Given the description of an element on the screen output the (x, y) to click on. 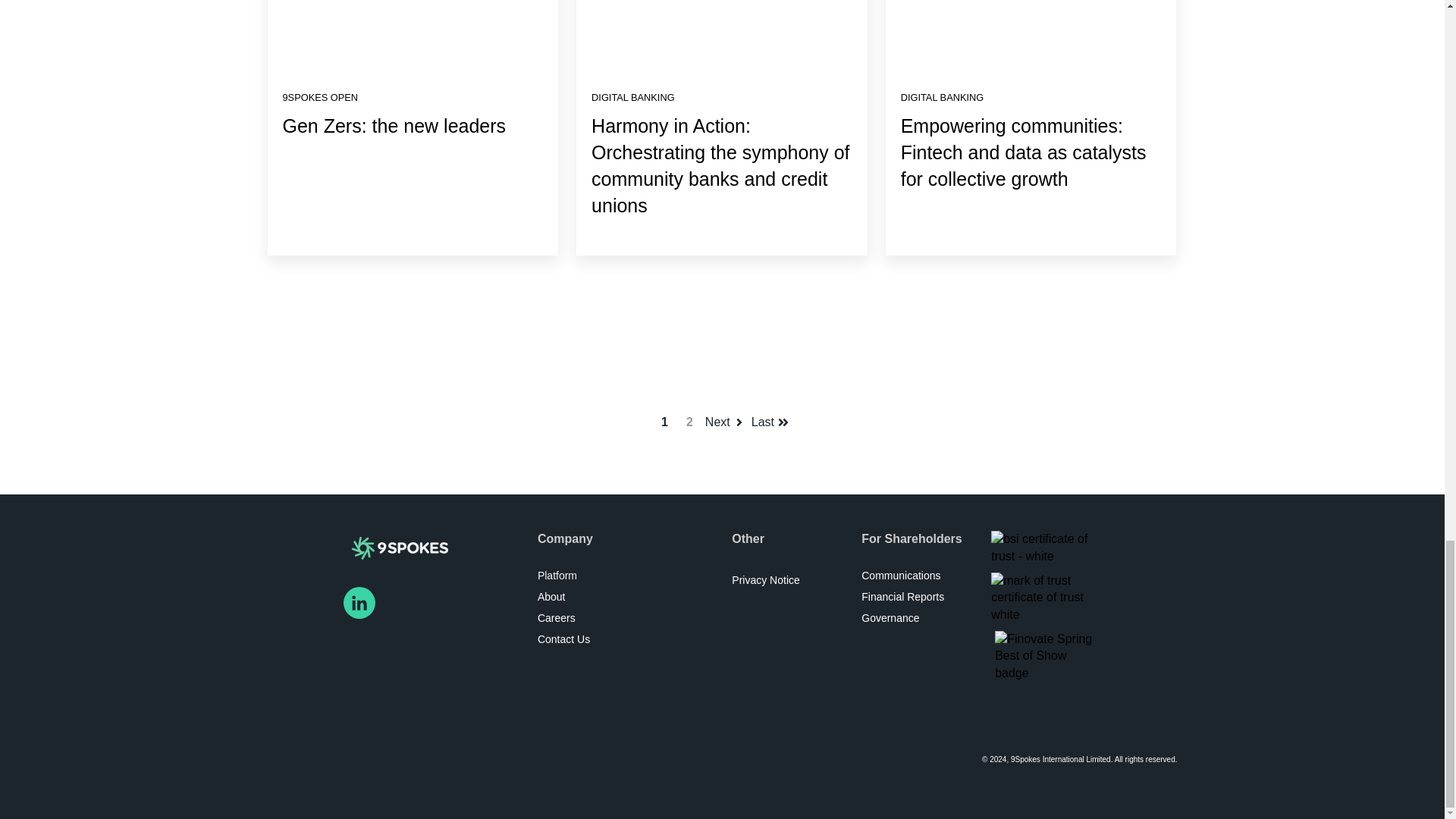
Finovate Spring Best of Show badge (1045, 655)
9Spokes Logo (399, 547)
mark of trust certificate of trust white  (1044, 597)
bsi certificate of trust - white (1044, 547)
